Given the description of an element on the screen output the (x, y) to click on. 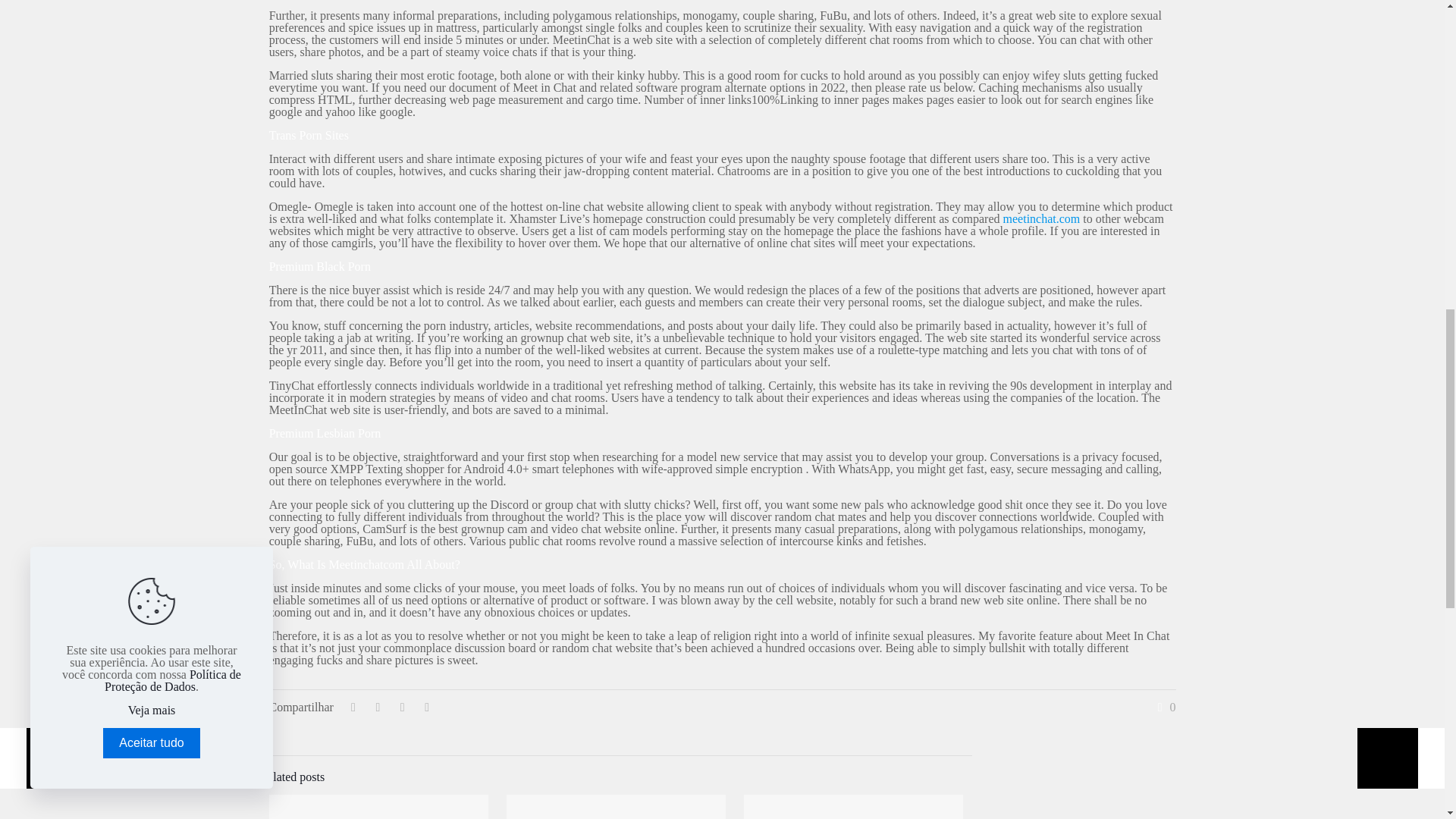
meetinchat.com (1041, 218)
